Given the description of an element on the screen output the (x, y) to click on. 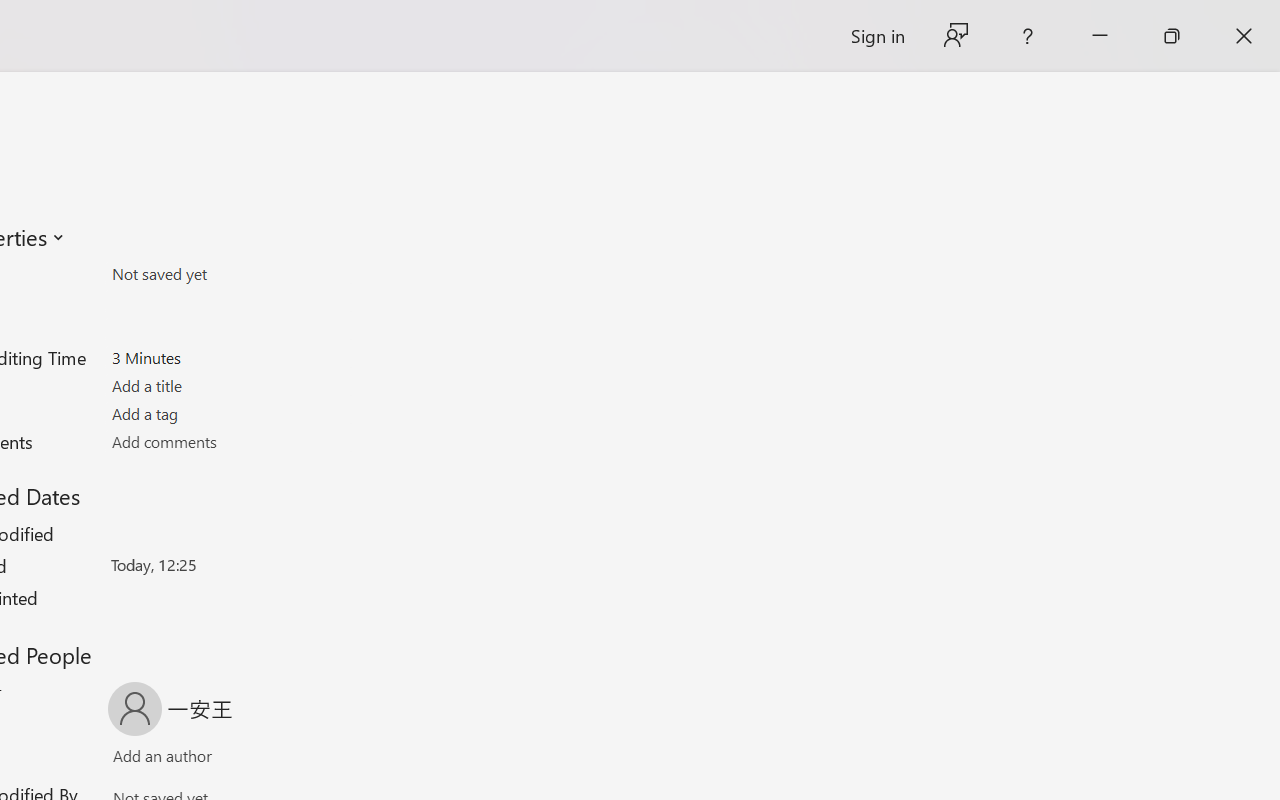
Total Editing Time (228, 357)
Title (228, 386)
Pages (228, 301)
Tags (228, 413)
Words (228, 330)
Add an author (142, 759)
Browse Address Book (291, 760)
Verify Names (197, 759)
